Given the description of an element on the screen output the (x, y) to click on. 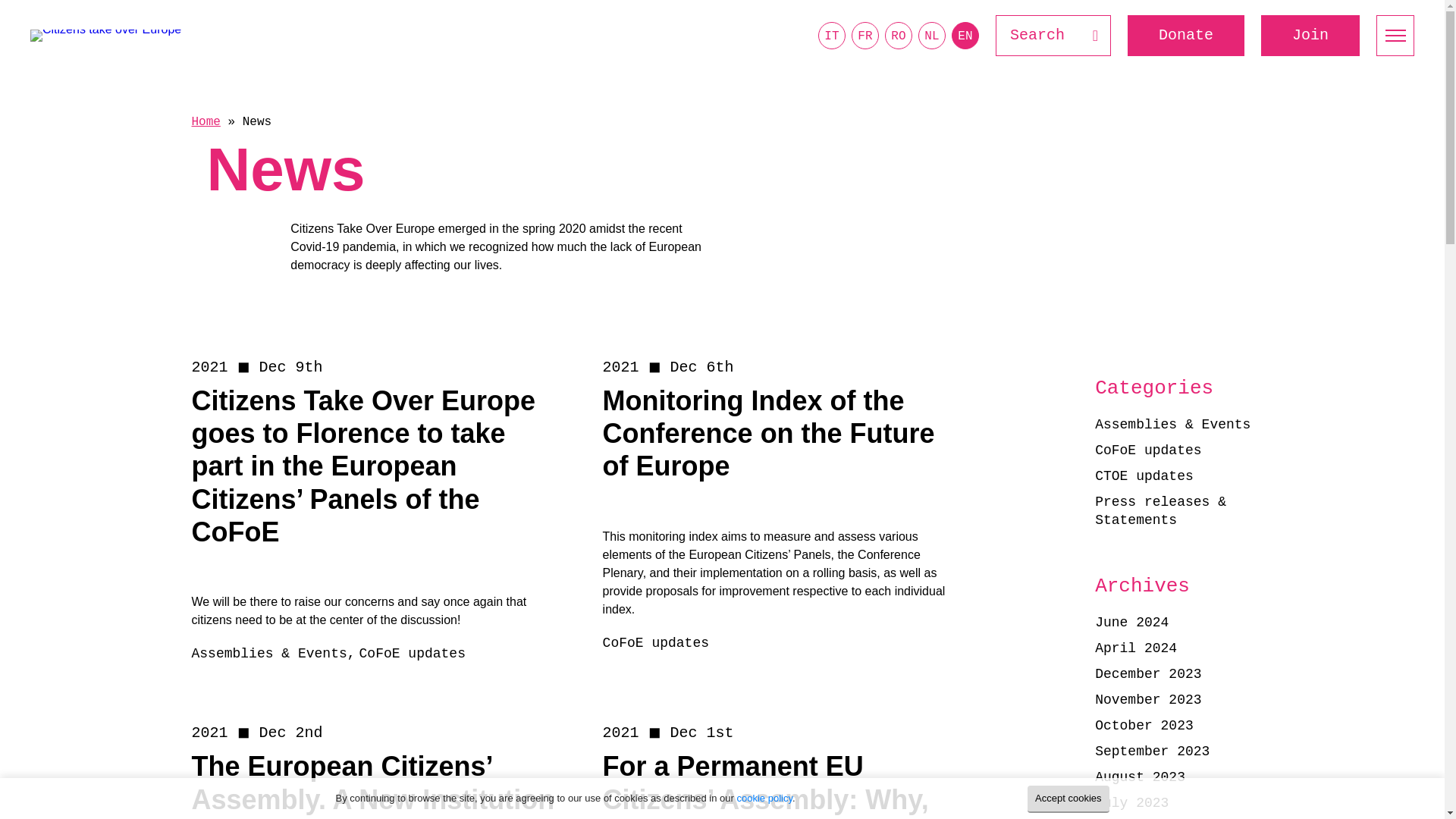
IT (831, 35)
EN (965, 35)
Home (204, 121)
FR (865, 35)
Donate (1185, 35)
RO (898, 35)
NL (931, 35)
Join (1309, 35)
